Given the description of an element on the screen output the (x, y) to click on. 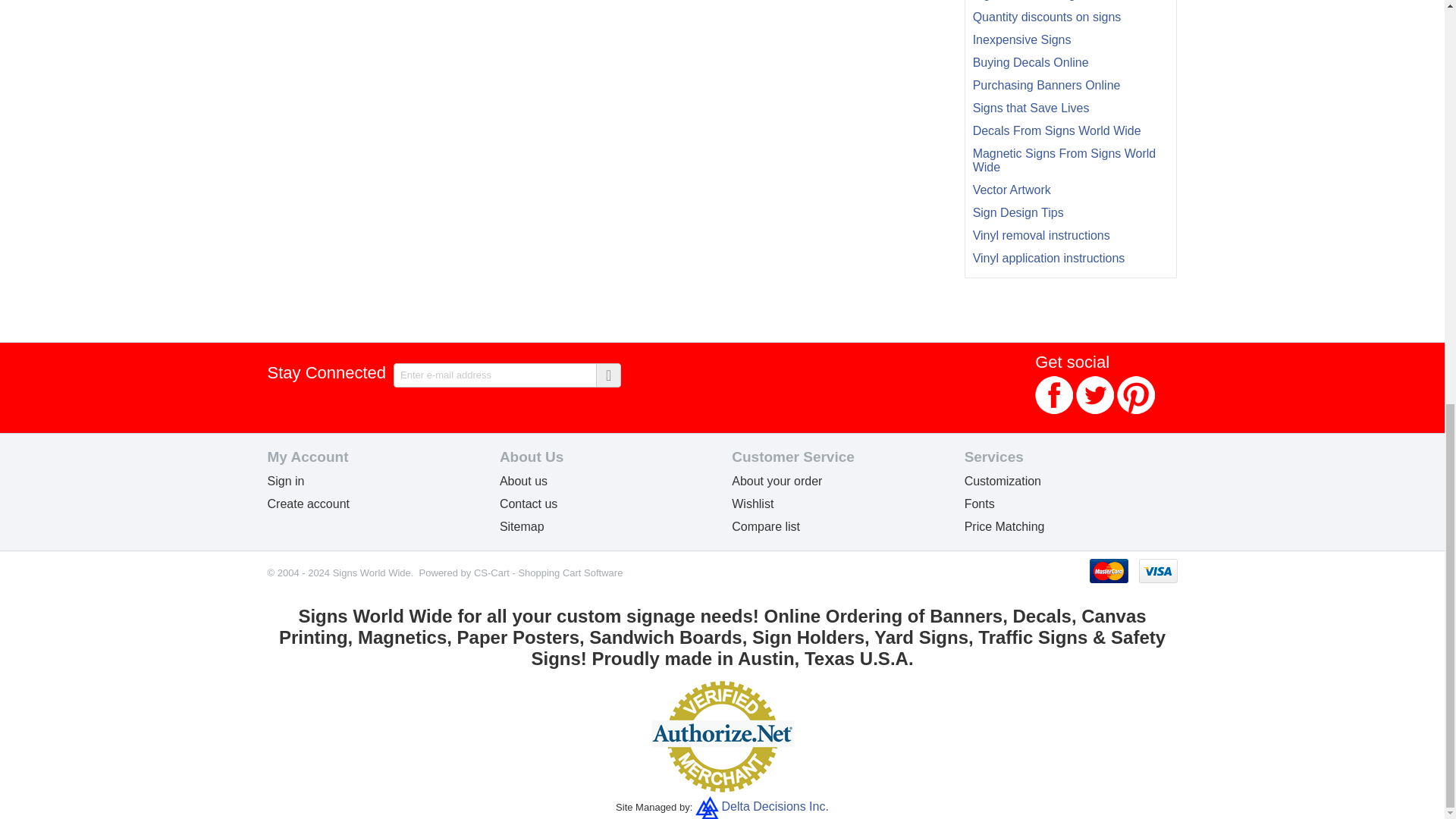
Enter e-mail address (507, 375)
Go (607, 374)
